Given the description of an element on the screen output the (x, y) to click on. 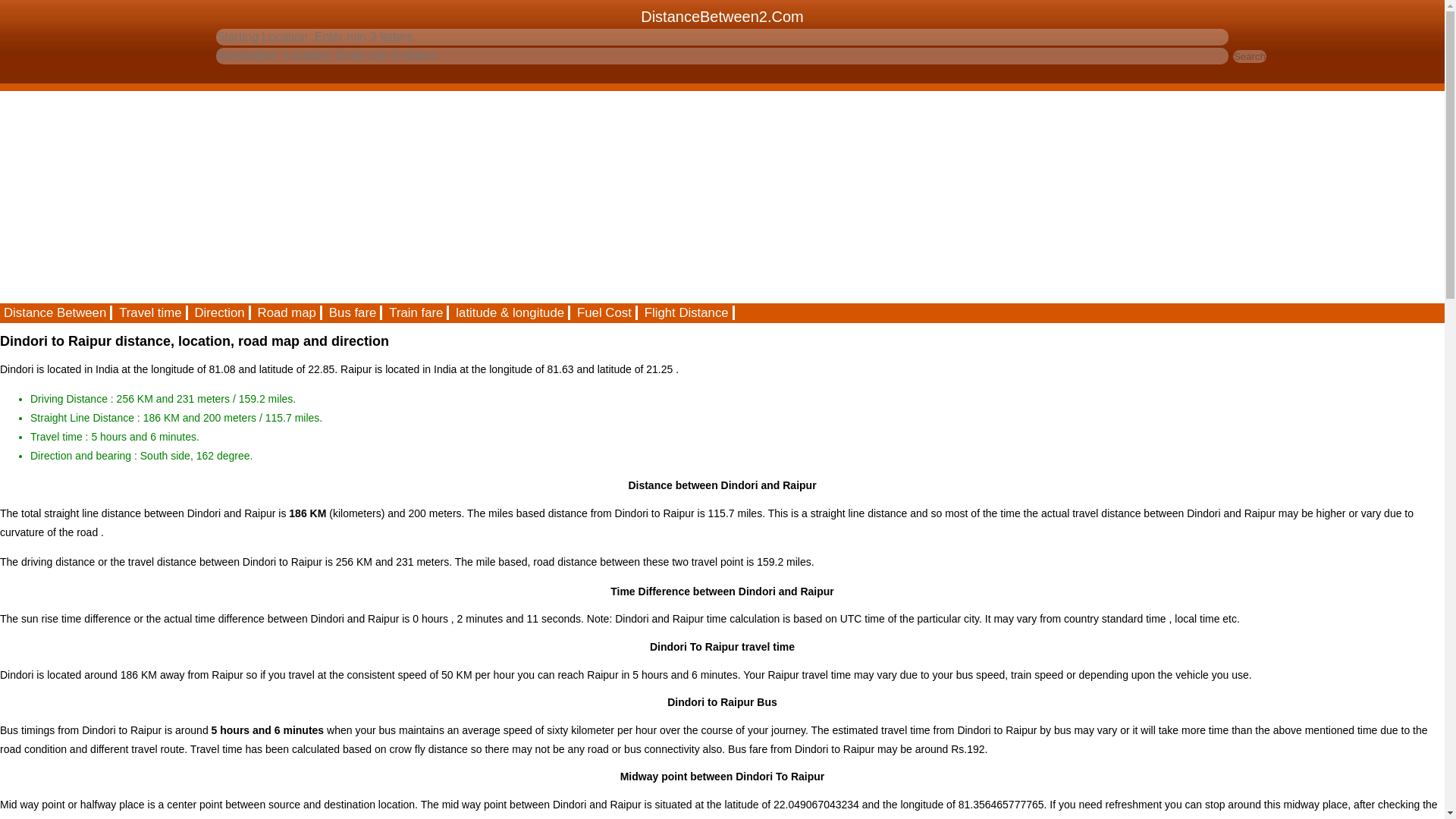
Road map (287, 312)
Flight Distance (687, 312)
Train fare (416, 312)
driving direction (220, 312)
Direction (220, 312)
Distance Between (56, 312)
Bus fare (353, 312)
Fuel Cost (605, 312)
Search (1249, 56)
